Given the description of an element on the screen output the (x, y) to click on. 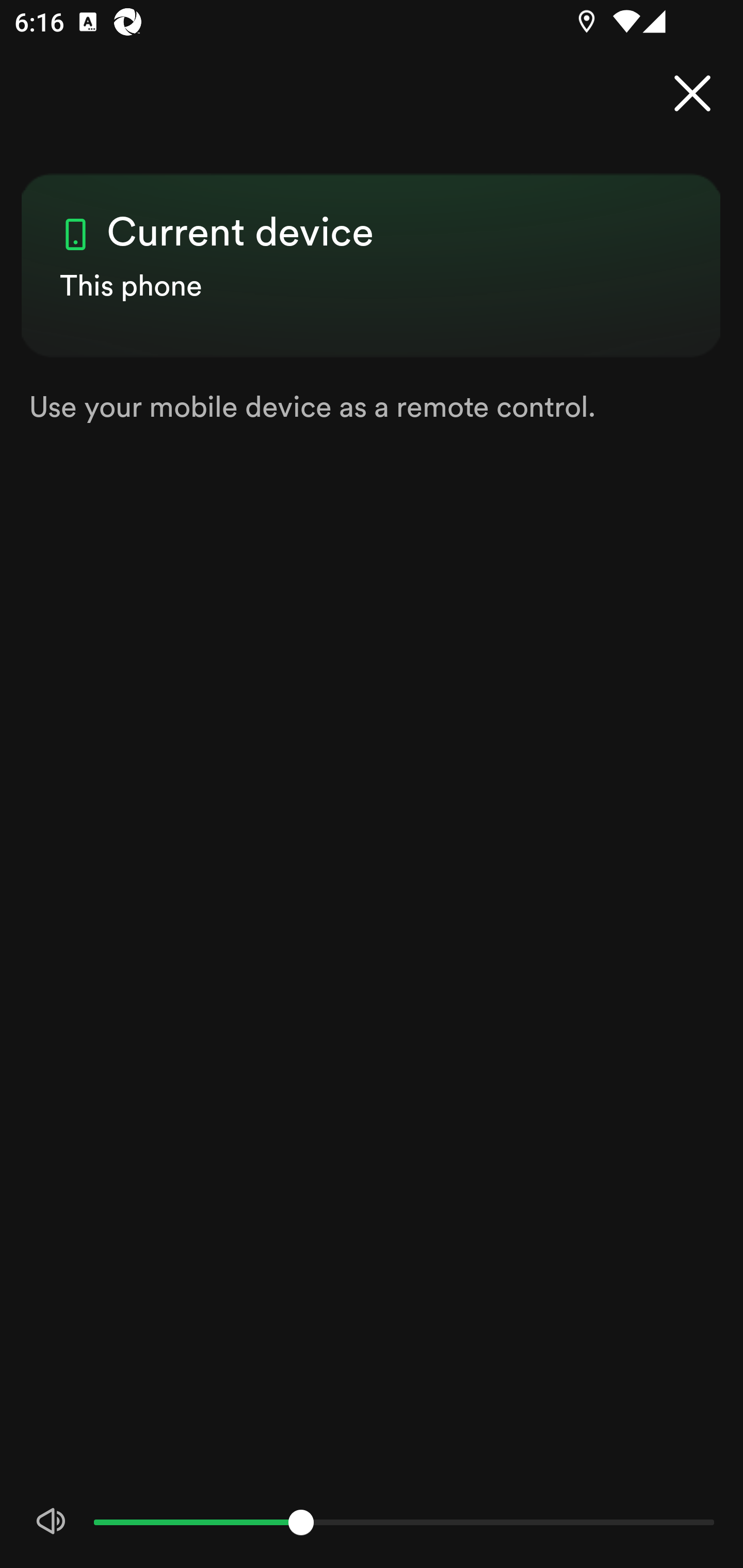
Close (692, 93)
Current device This phone (371, 247)
